Given the description of an element on the screen output the (x, y) to click on. 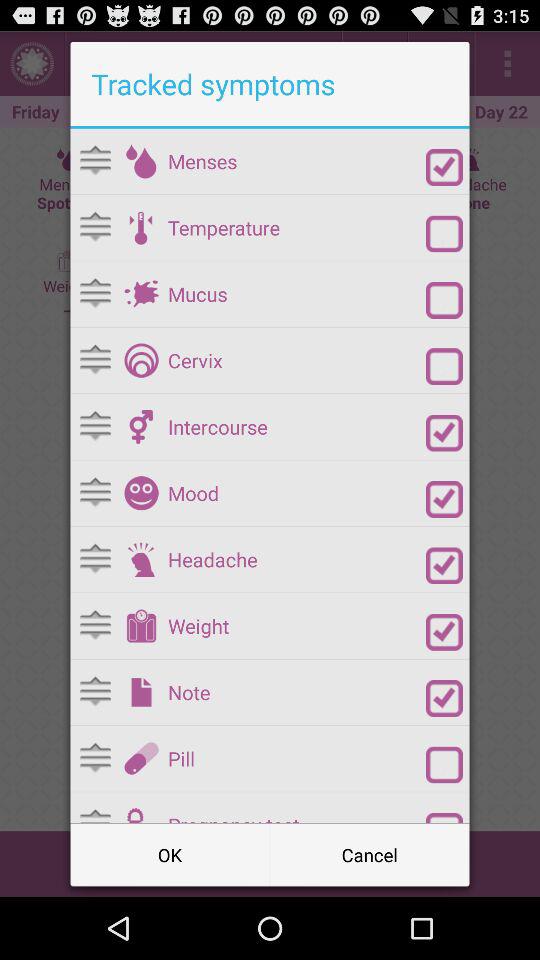
select icon above the mucus (296, 227)
